Given the description of an element on the screen output the (x, y) to click on. 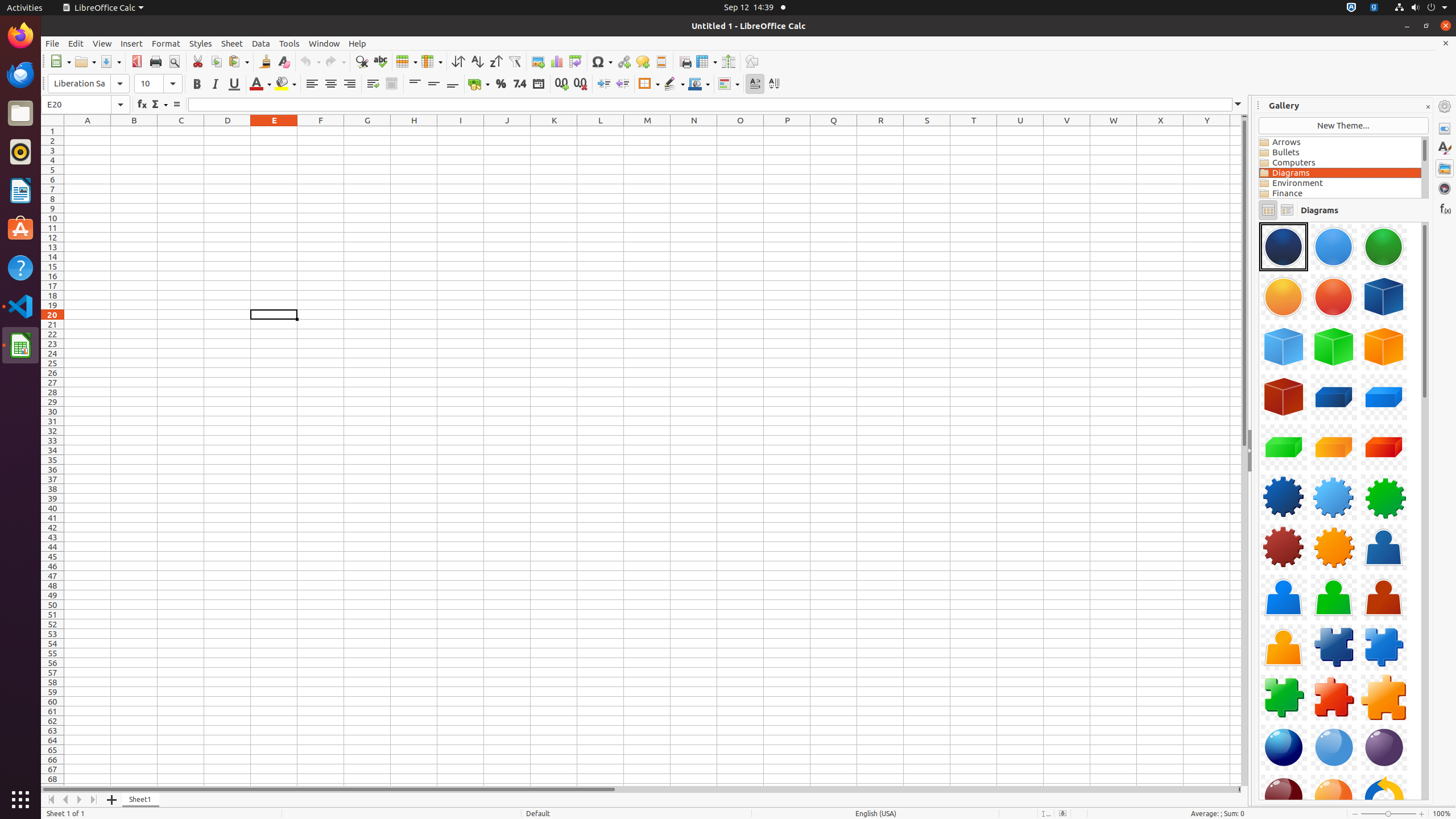
Z1 Element type: table-cell (1235, 130)
Component-Cube02-LightBlue Element type: list-item (1283, 346)
Y1 Element type: table-cell (1206, 130)
Spelling Element type: push-button (379, 61)
Component-PuzzlePiece05-Orange Element type: list-item (1383, 696)
